Given the description of an element on the screen output the (x, y) to click on. 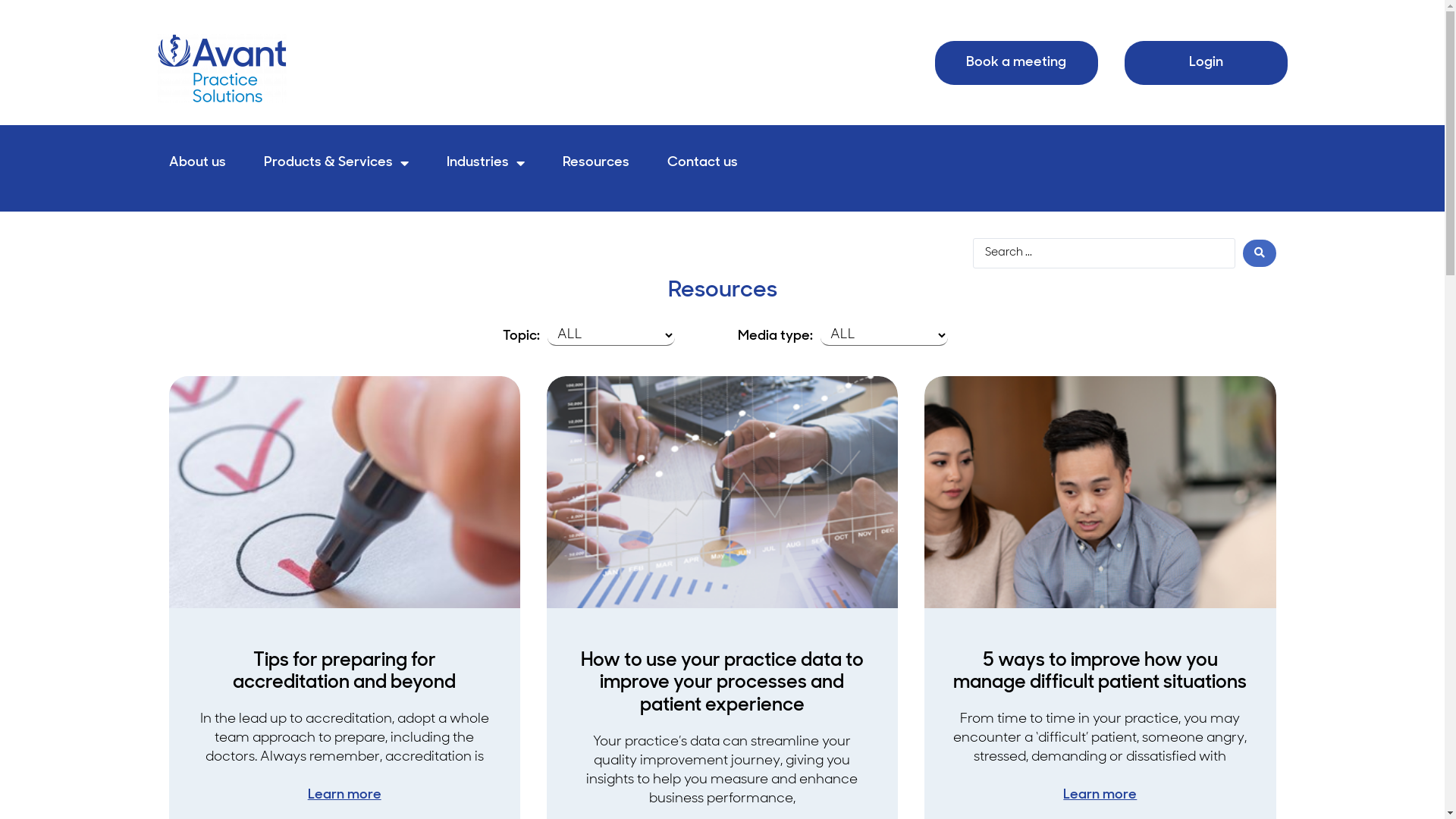
About us Element type: text (196, 162)
Contact us Element type: text (702, 162)
Tips for preparing for accreditation and beyond Element type: text (343, 672)
Learn more Element type: text (1099, 794)
Book a meeting Element type: text (1015, 62)
Products & Services Element type: text (335, 162)
Learn more Element type: text (344, 794)
Industries Element type: text (484, 162)
Avant_Practice Solutions_Logo_RGB-cropped Element type: hover (221, 68)
Login Element type: text (1204, 62)
Resources Element type: text (595, 162)
